Given the description of an element on the screen output the (x, y) to click on. 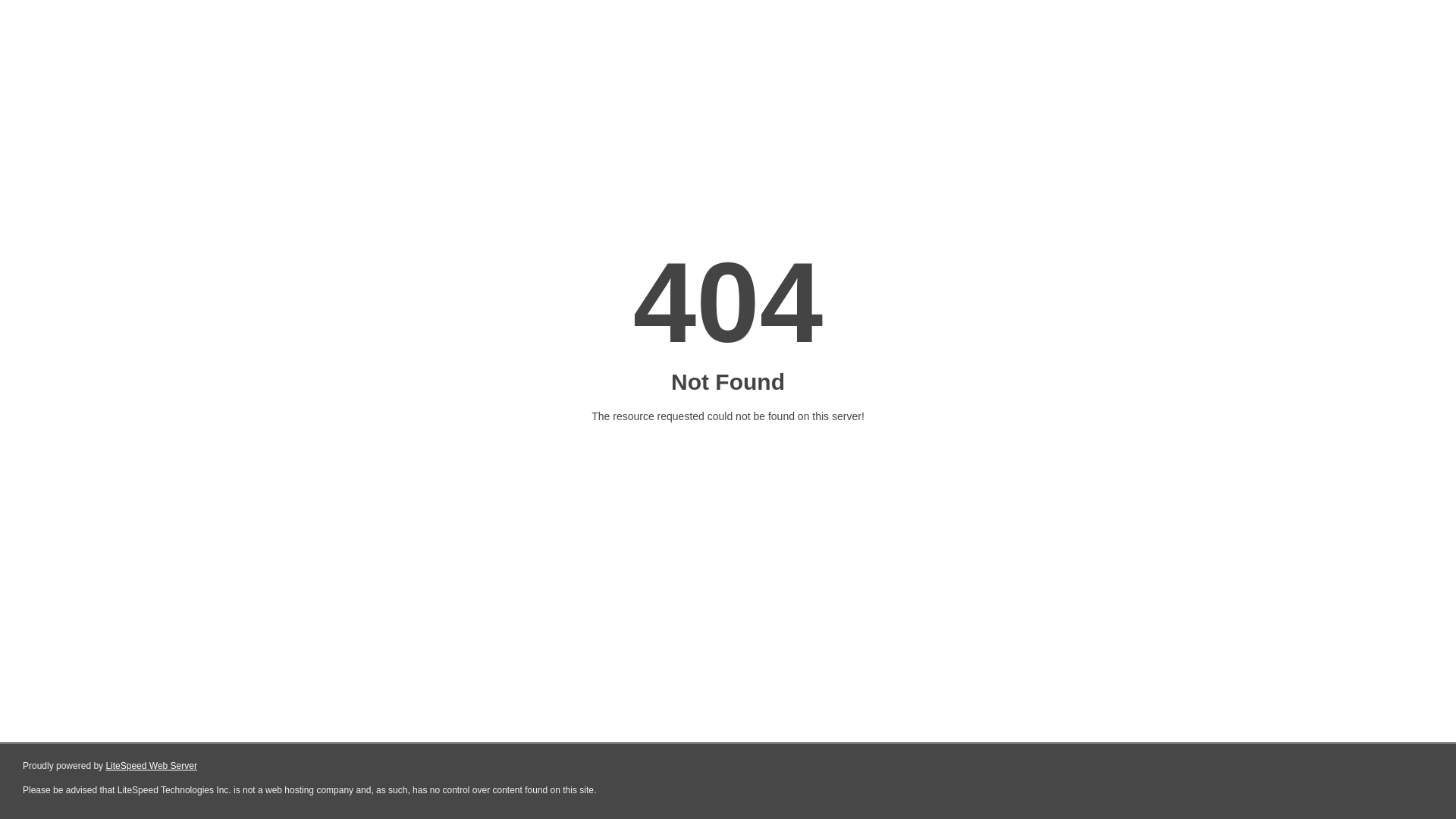
LiteSpeed Web Server Element type: text (151, 765)
